Given the description of an element on the screen output the (x, y) to click on. 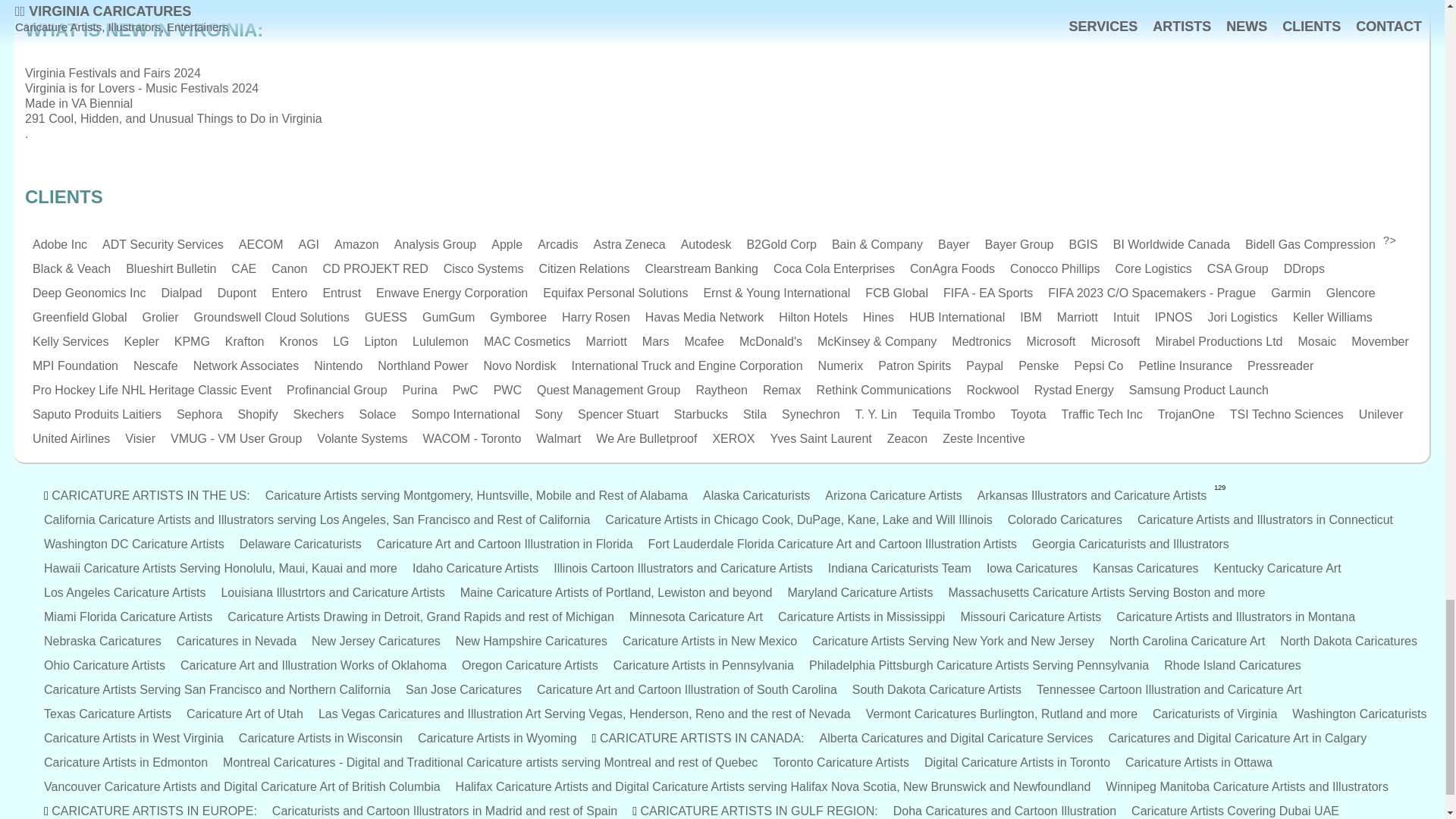
Adobe Inc (59, 244)
Virginia is for Lovers - Music Festivals 2024 (141, 88)
. (25, 133)
291 Cool, Hidden, and Unusual Things to Do in Virginia (172, 118)
Virginia Festivals and Fairs 2024 (112, 72)
WHAT IS NEW IN VIRGINIA: (721, 49)
Made in VA Biennial (78, 103)
